Given the description of an element on the screen output the (x, y) to click on. 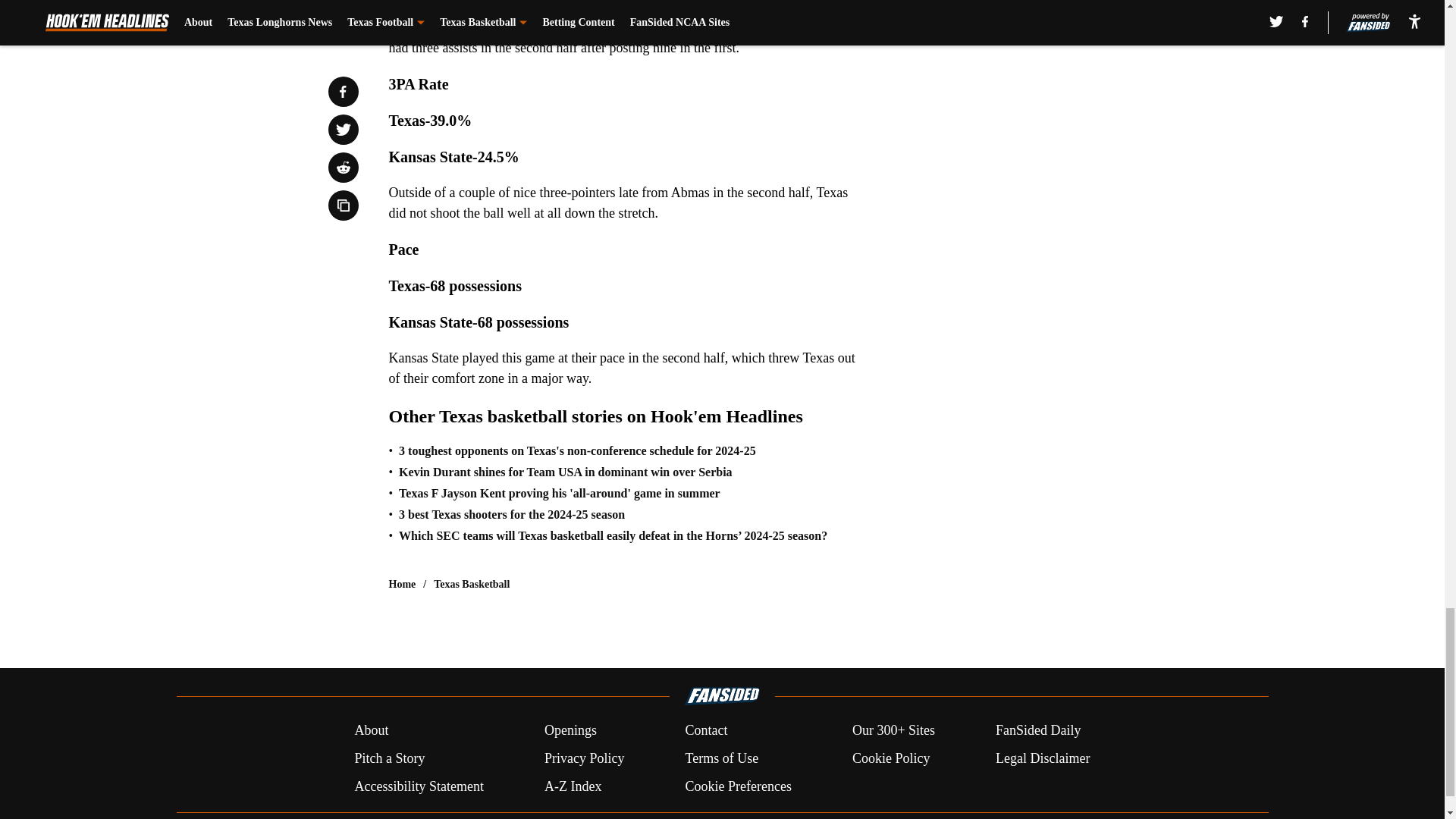
FanSided Daily (1038, 730)
Texas F Jayson Kent proving his 'all-around' game in summer (559, 493)
About (370, 730)
Kevin Durant shines for Team USA in dominant win over Serbia (565, 472)
Texas Basketball (471, 584)
Contact (705, 730)
Openings (570, 730)
Home (401, 584)
3 best Texas shooters for the 2024-25 season (511, 514)
